Given the description of an element on the screen output the (x, y) to click on. 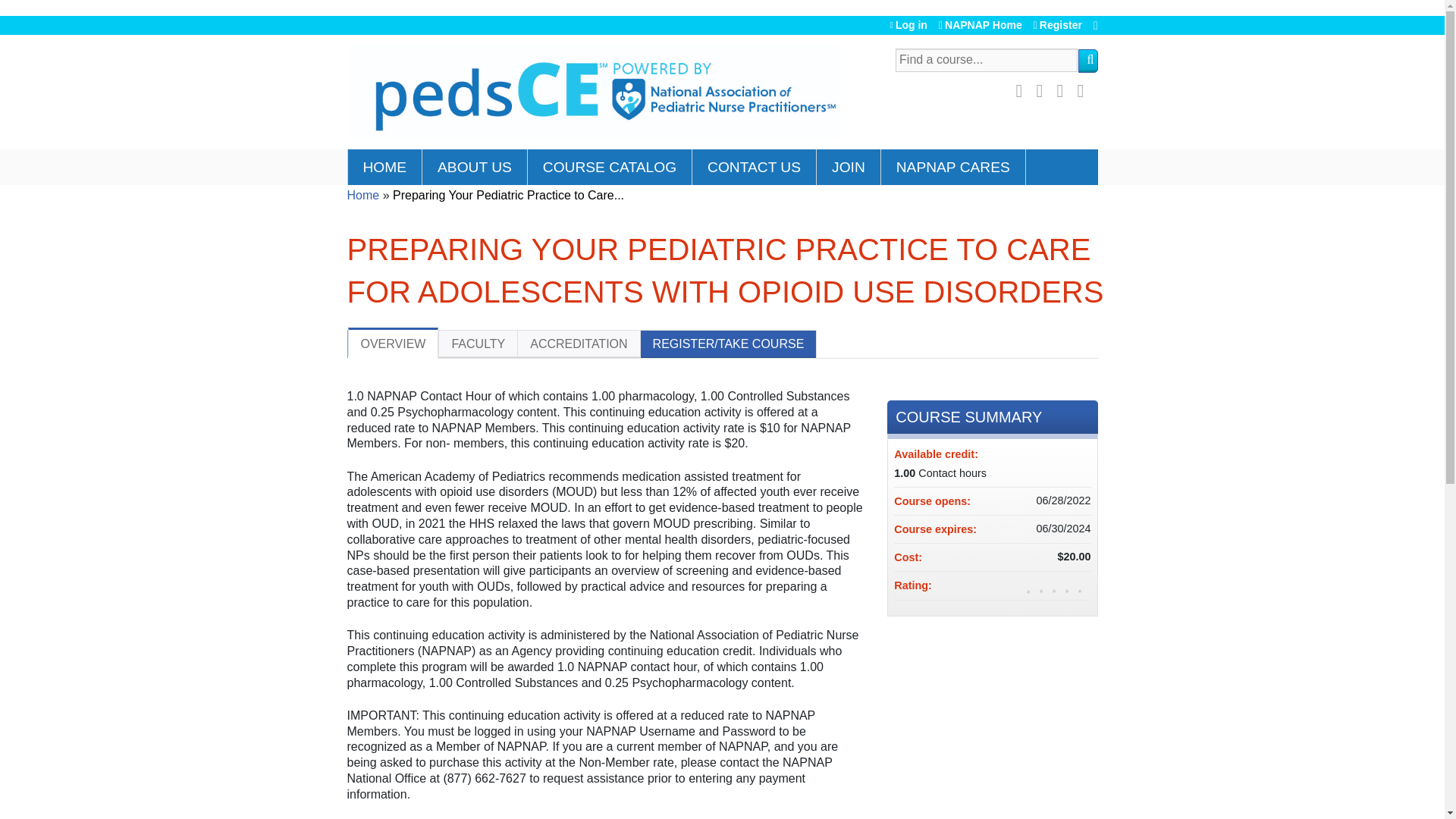
Preparing Your Pediatric Practice to Care... (508, 195)
JOIN (848, 167)
Register (1057, 25)
ABOUT US (474, 167)
Home (593, 92)
HOME (385, 167)
Home (363, 195)
FACULTY (478, 343)
NAPNAP Home (980, 25)
COURSE CATALOG (610, 167)
NAPNAP CARES (953, 167)
ACCREDITATION (578, 343)
Log in (908, 25)
OVERVIEW (392, 342)
CONTACT US (754, 167)
